Given the description of an element on the screen output the (x, y) to click on. 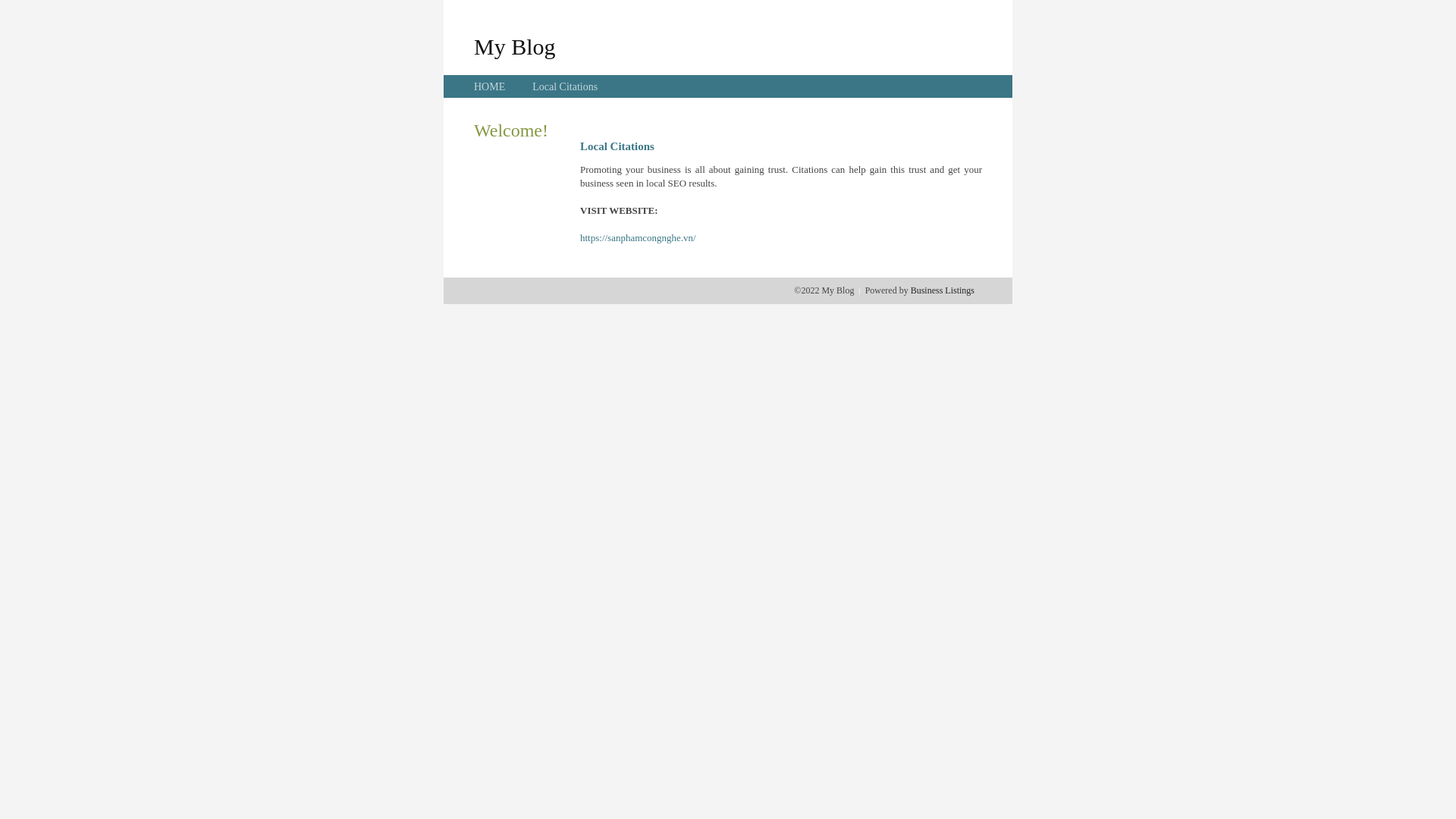
Local Citations Element type: text (564, 86)
https://sanphamcongnghe.vn/ Element type: text (638, 237)
My Blog Element type: text (514, 46)
Business Listings Element type: text (942, 290)
HOME Element type: text (489, 86)
